Given the description of an element on the screen output the (x, y) to click on. 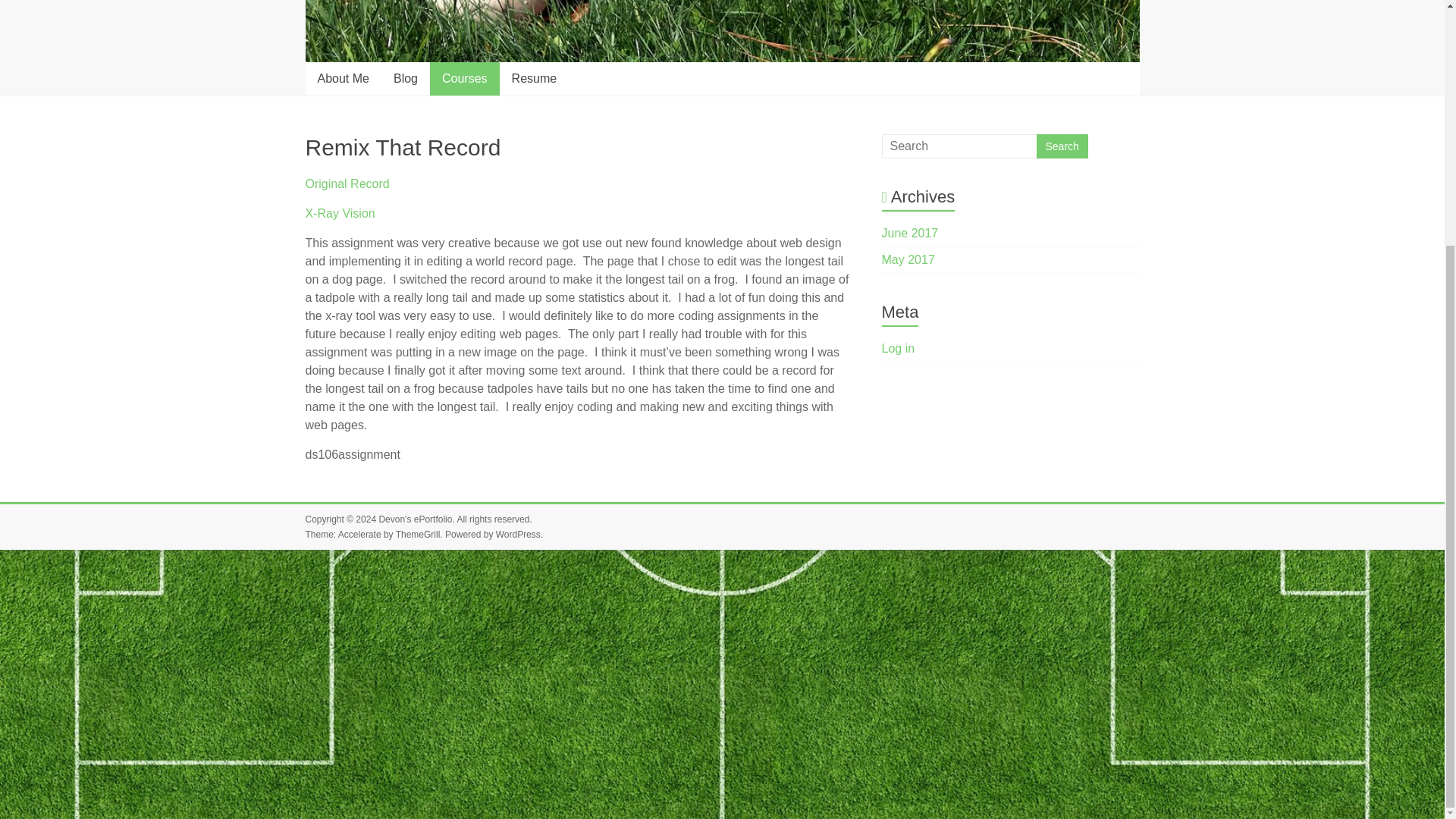
Resume (534, 78)
Log in (898, 348)
WordPress (518, 534)
May 2017 (908, 259)
Accelerate (359, 534)
Search (1061, 146)
Devon's ePortfolio (414, 519)
WordPress (518, 534)
Devon's ePortfolio (414, 519)
Original Record (346, 183)
